Given the description of an element on the screen output the (x, y) to click on. 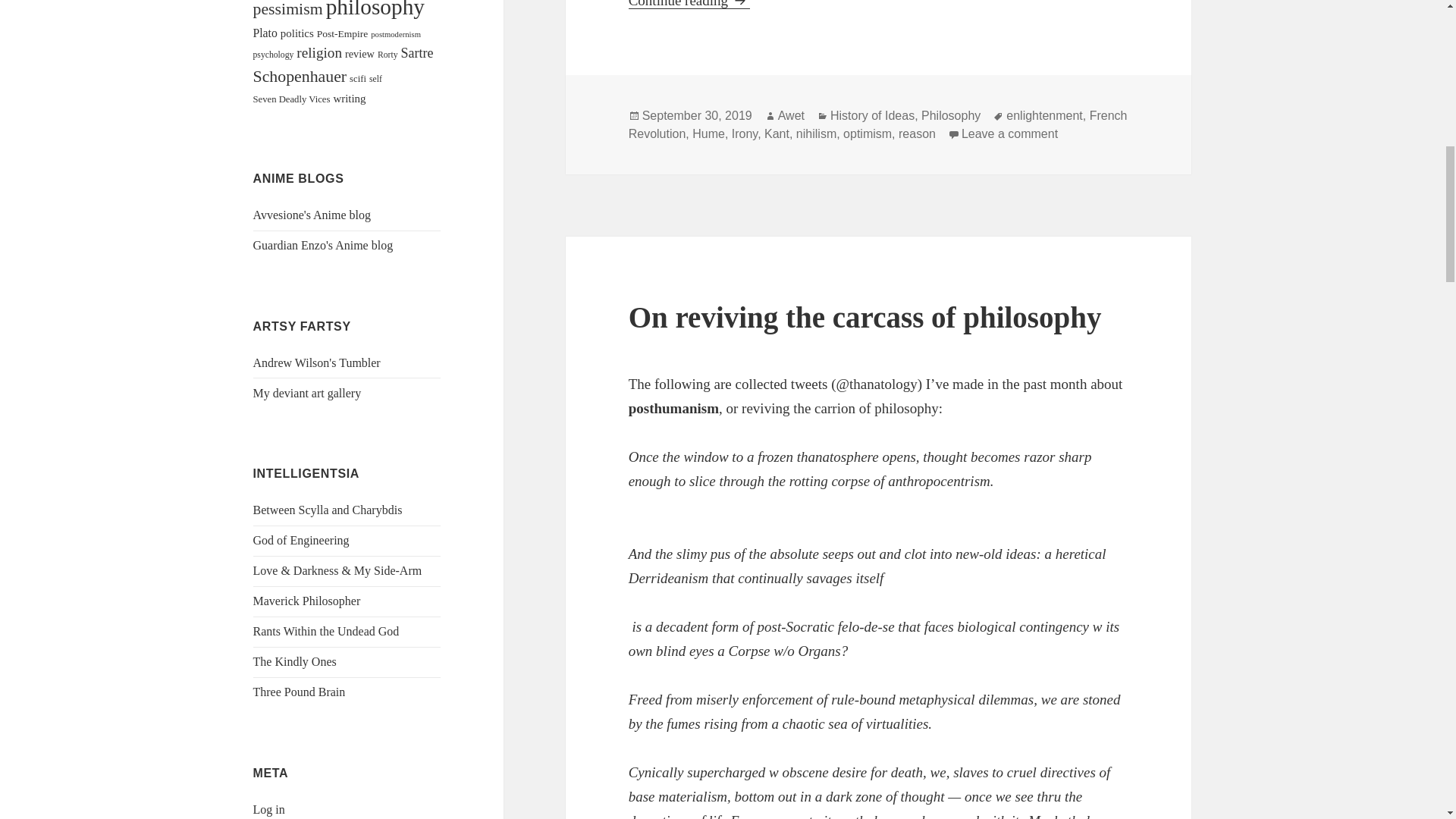
politics (297, 33)
pessimism (288, 9)
Plato (265, 32)
Essays by Brianna Berbenuik (337, 570)
philosophy (375, 9)
psychology (273, 54)
graphic novel artwork  (316, 362)
postmodernism (395, 34)
Post-Empire (342, 33)
My artwork (307, 392)
Excellent philosophy blog (307, 600)
Great anime blogger (323, 245)
